Given the description of an element on the screen output the (x, y) to click on. 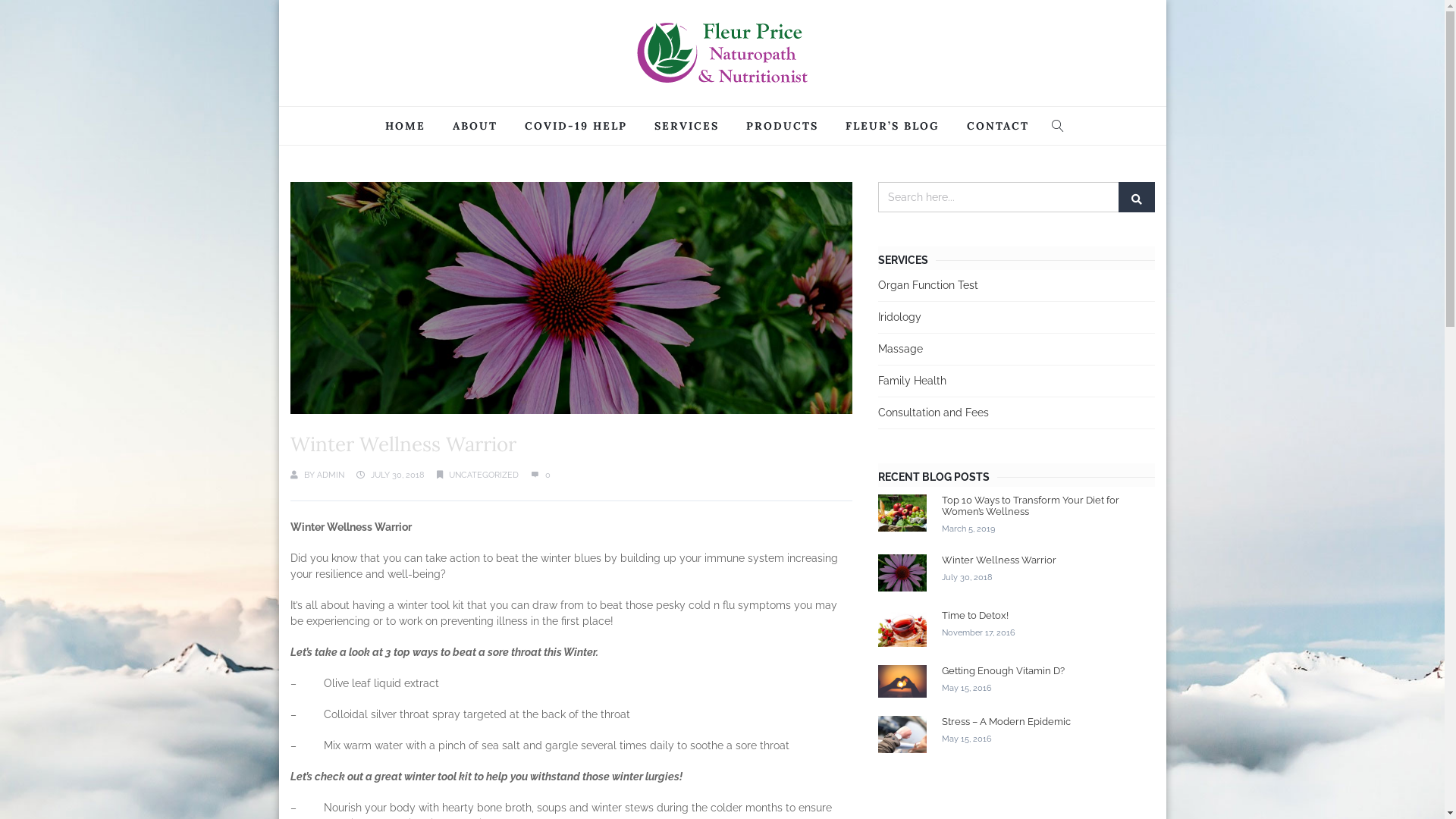
Fleur Price Naturopath Element type: hover (721, 53)
UNCATEGORIZED Element type: text (483, 475)
Organ Function Test Element type: text (928, 285)
Family Health Element type: text (912, 380)
ABOUT Element type: text (475, 125)
Iridology Element type: text (899, 316)
Massage Element type: text (900, 348)
Winter Wellness Warrior Element type: text (998, 568)
Time to Detox! Element type: text (978, 623)
HOME Element type: text (405, 125)
ADMIN Element type: text (330, 475)
CONTACT Element type: text (997, 125)
Consultation and Fees Element type: text (933, 412)
0 Element type: text (540, 475)
Getting Enough Vitamin D? Element type: text (1002, 679)
SERVICES Element type: text (686, 125)
COVID-19 HELP Element type: text (575, 125)
PRODUCTS Element type: text (781, 125)
